Given the description of an element on the screen output the (x, y) to click on. 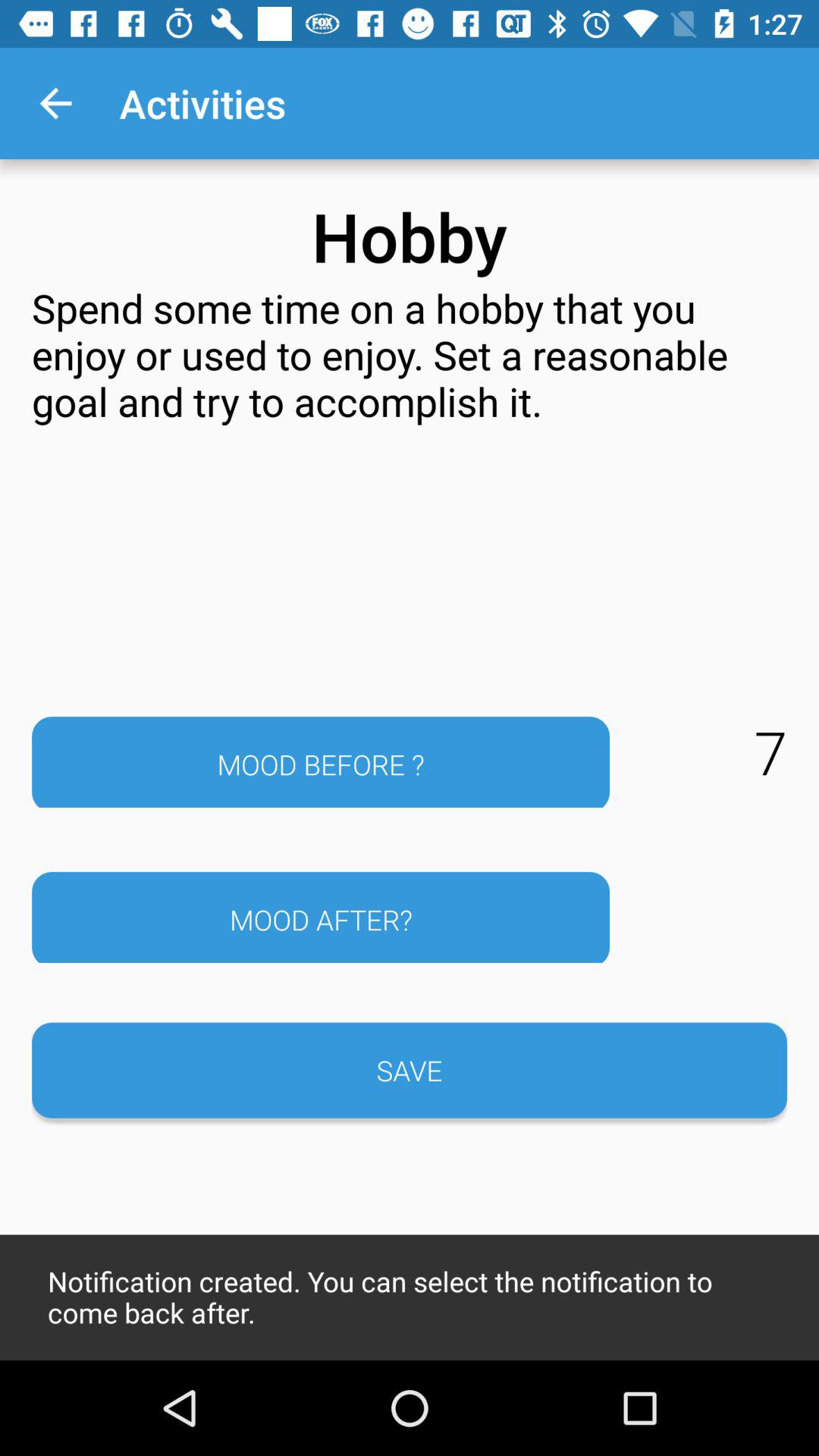
press the icon next to the activities icon (55, 103)
